Given the description of an element on the screen output the (x, y) to click on. 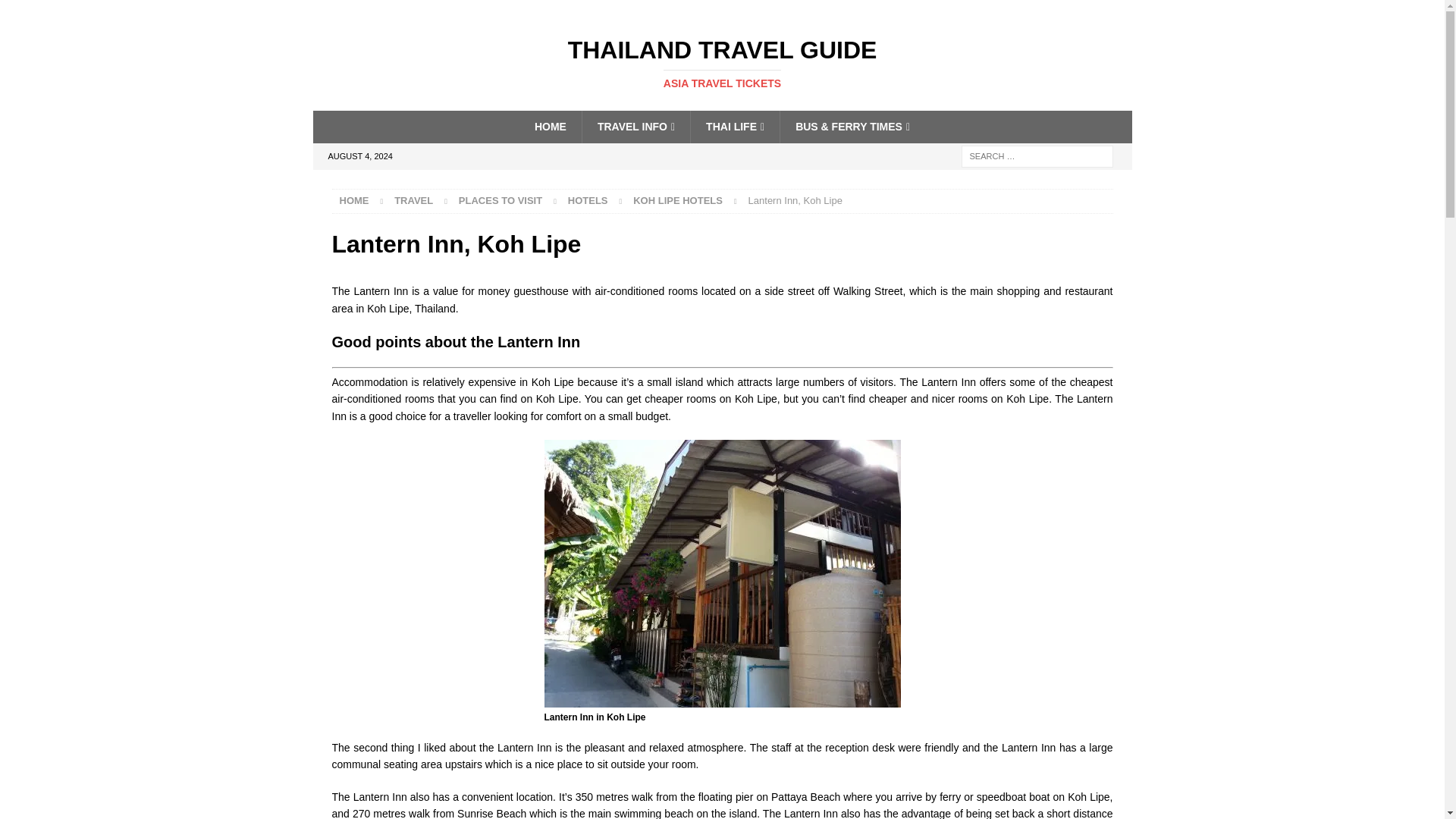
Thailand Travel Guide (722, 63)
Koh Lipe Hotels (722, 63)
Home (677, 200)
